Given the description of an element on the screen output the (x, y) to click on. 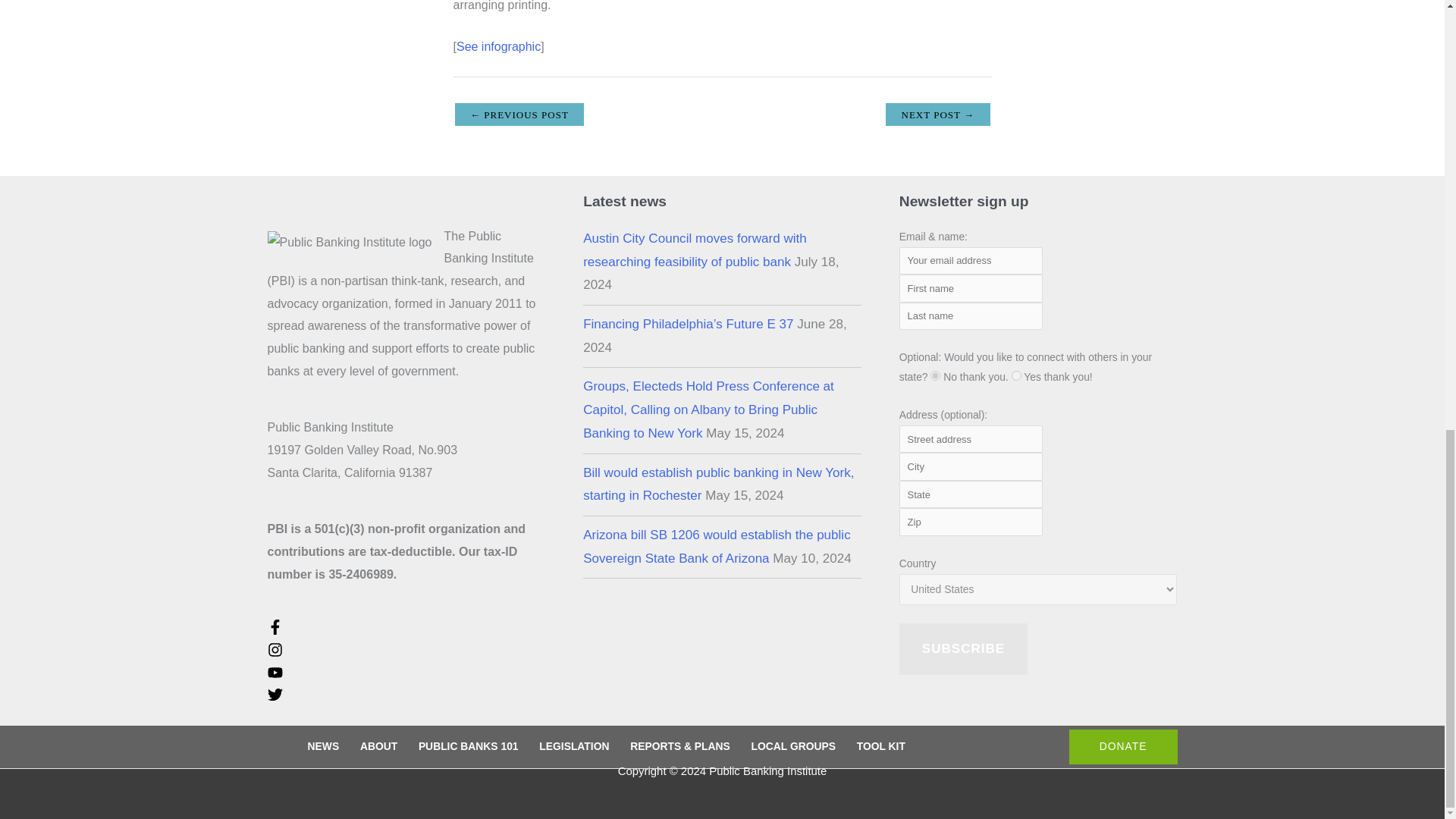
Connect (1016, 375)
Subscribe (963, 648)
no thanks (935, 375)
